Given the description of an element on the screen output the (x, y) to click on. 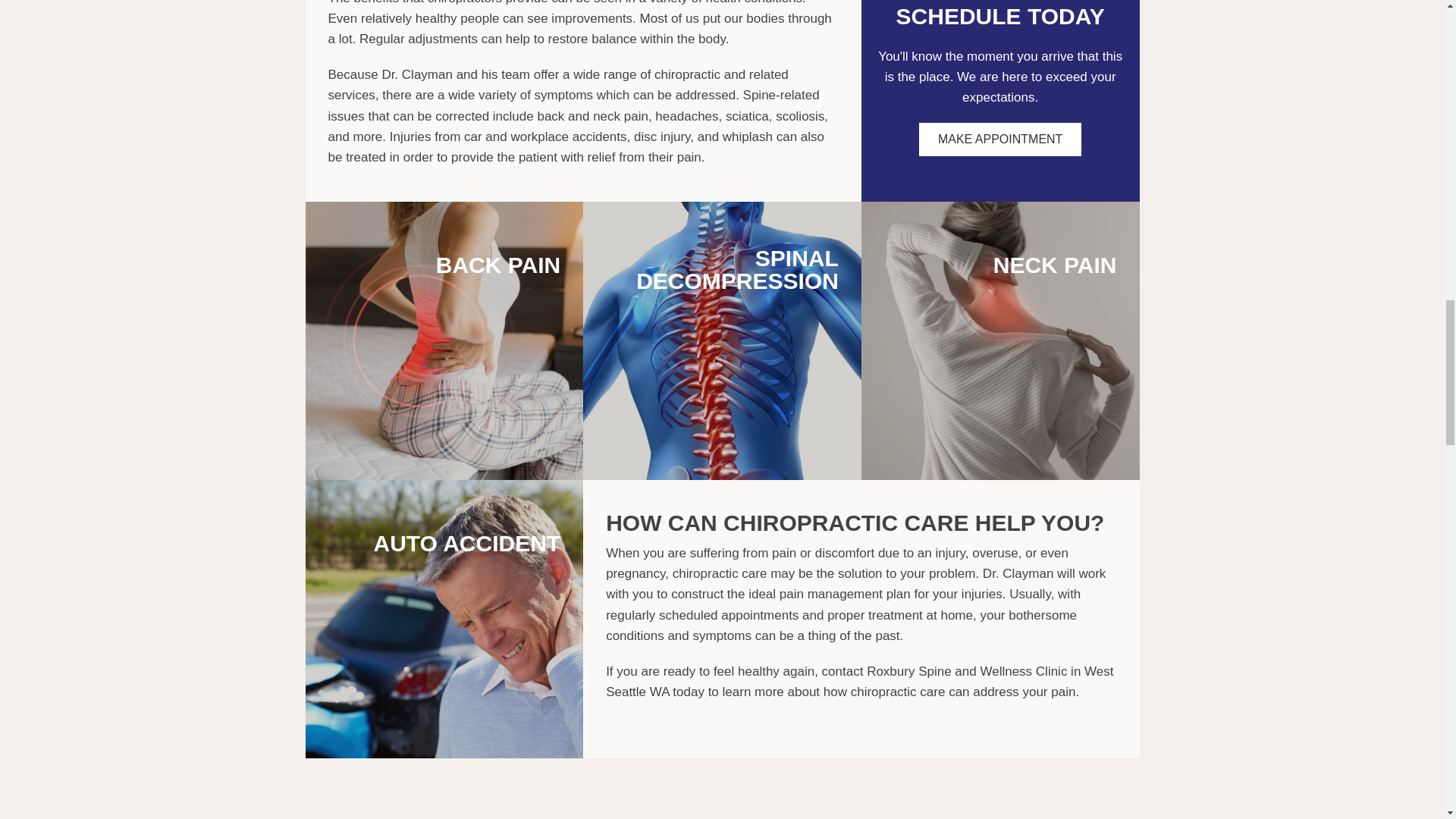
Click Here (999, 139)
